Given the description of an element on the screen output the (x, y) to click on. 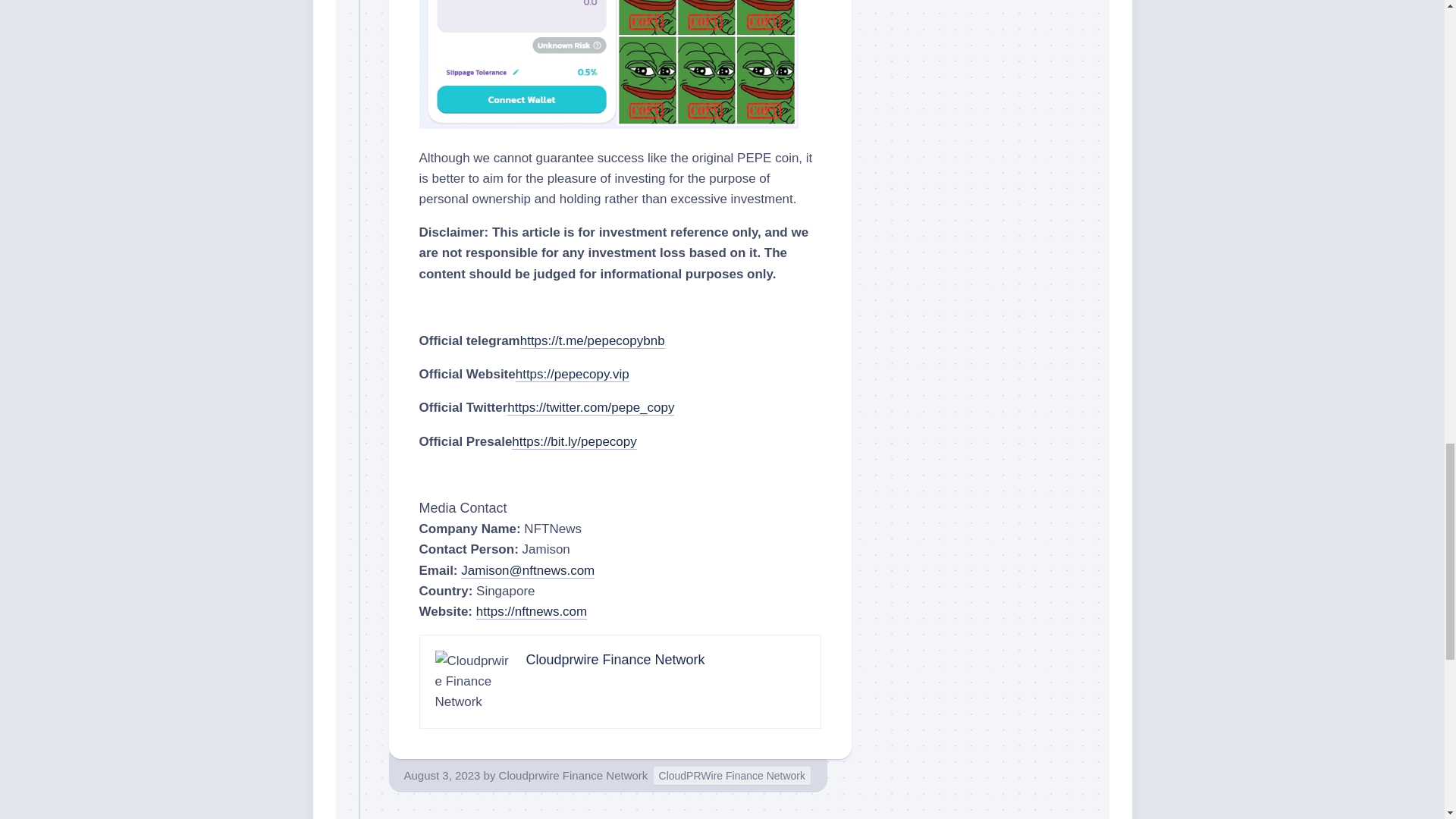
Posts by Cloudprwire Finance Network (573, 775)
CloudPRWire Finance Network (731, 775)
Cloudprwire Finance Network (614, 659)
Cloudprwire Finance Network (573, 775)
